Given the description of an element on the screen output the (x, y) to click on. 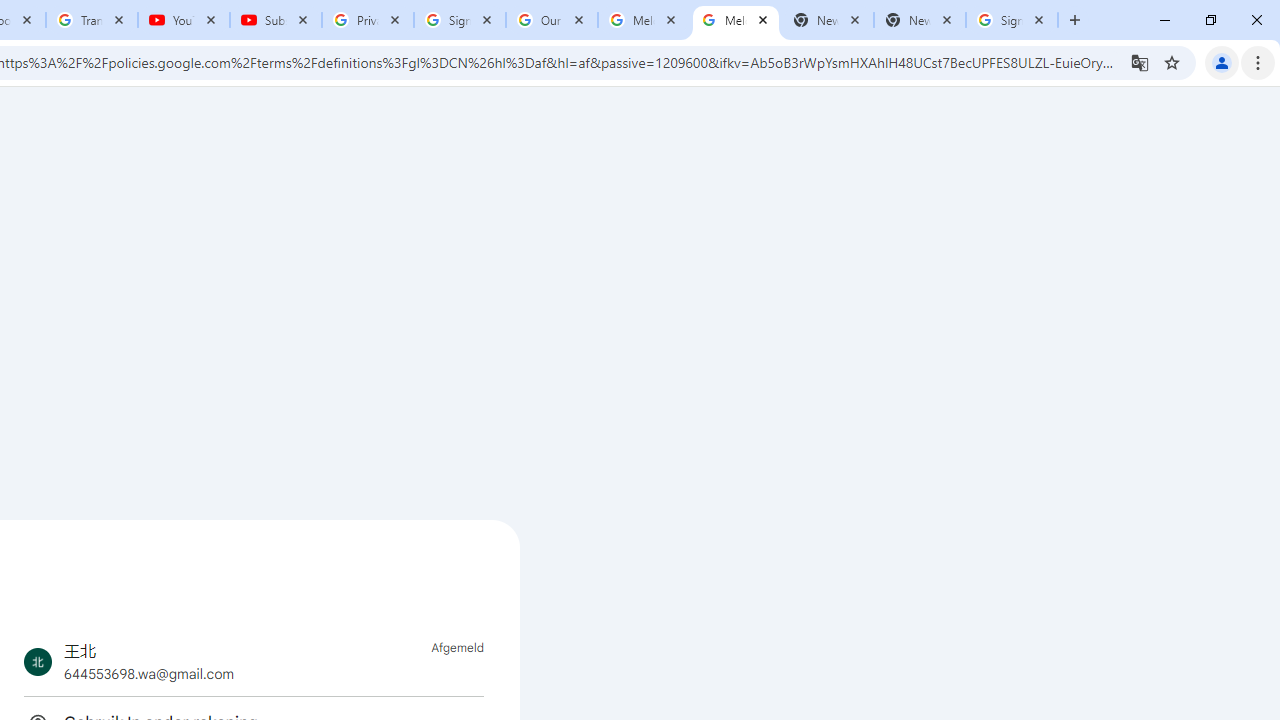
Sign in - Google Accounts (1012, 20)
